Given the description of an element on the screen output the (x, y) to click on. 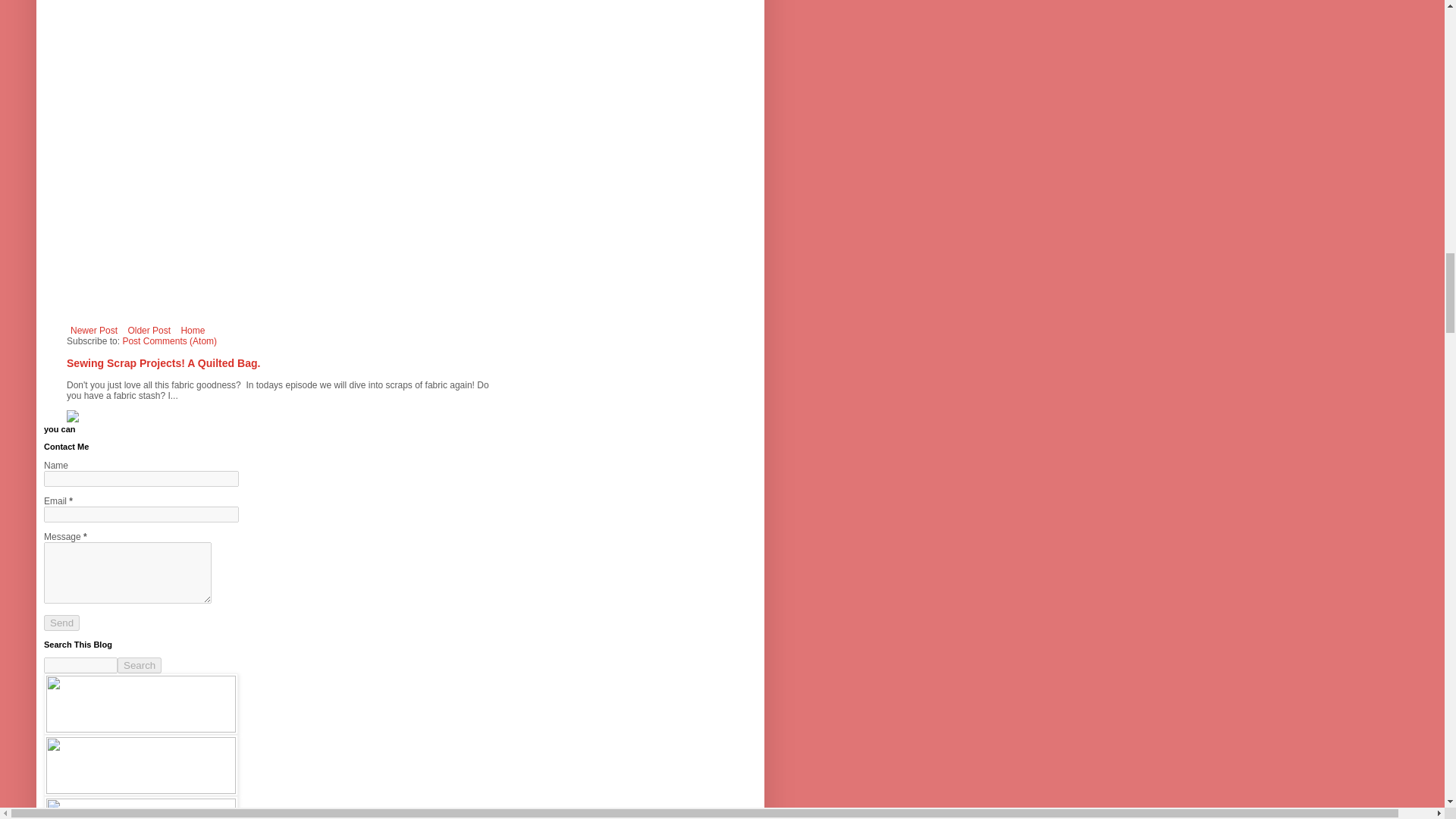
Search (139, 665)
Sewing Scrap Projects! A Quilted Bag. (163, 363)
Send (61, 622)
Older Post (148, 330)
Newer Post (93, 330)
Older Post (148, 330)
Search (139, 665)
Home (192, 330)
Newer Post (93, 330)
search (139, 665)
Search (139, 665)
search (80, 665)
